Given the description of an element on the screen output the (x, y) to click on. 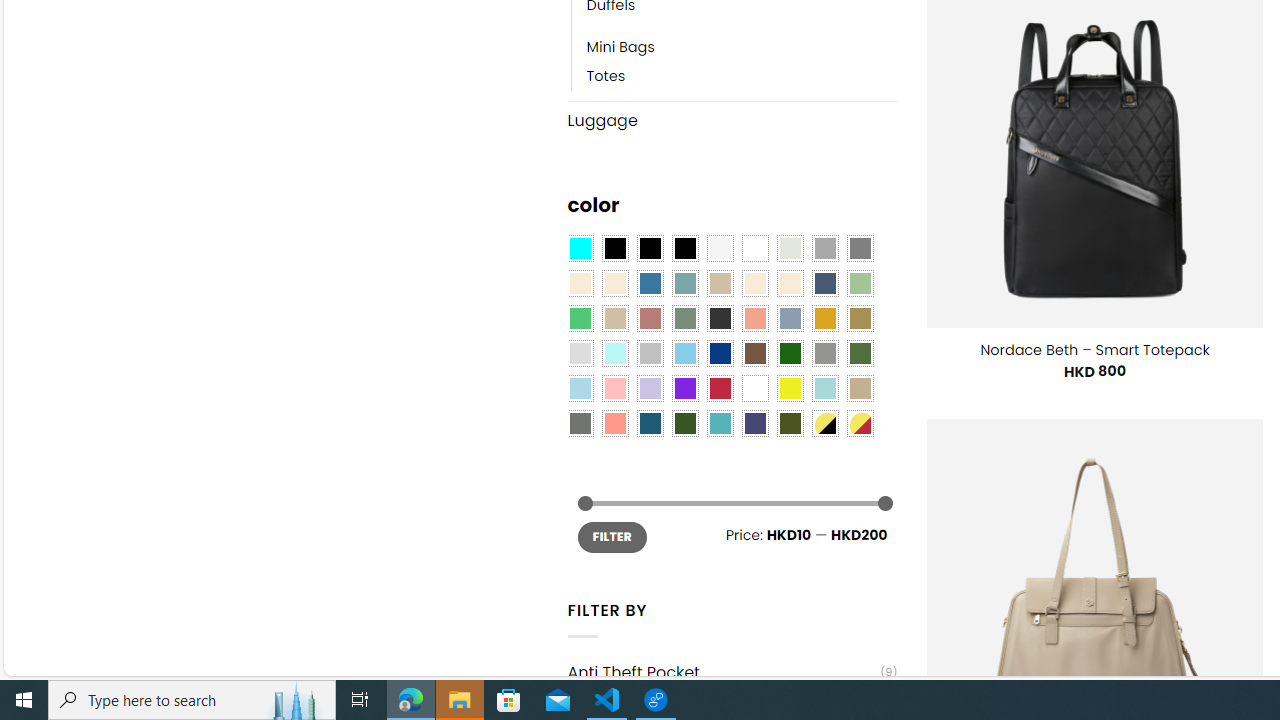
Kelp (859, 318)
Caramel (755, 283)
Light Gray (579, 354)
Purple (684, 388)
All Gray (859, 249)
Anti Theft Pocket (723, 672)
Khaki (859, 388)
Mini Bags (742, 48)
Clear (755, 249)
Ash Gray (789, 249)
Blue (650, 283)
Rose (650, 318)
Anti Theft Pocket(9) (732, 672)
Mini Bags (620, 48)
Yellow-Red (859, 424)
